Given the description of an element on the screen output the (x, y) to click on. 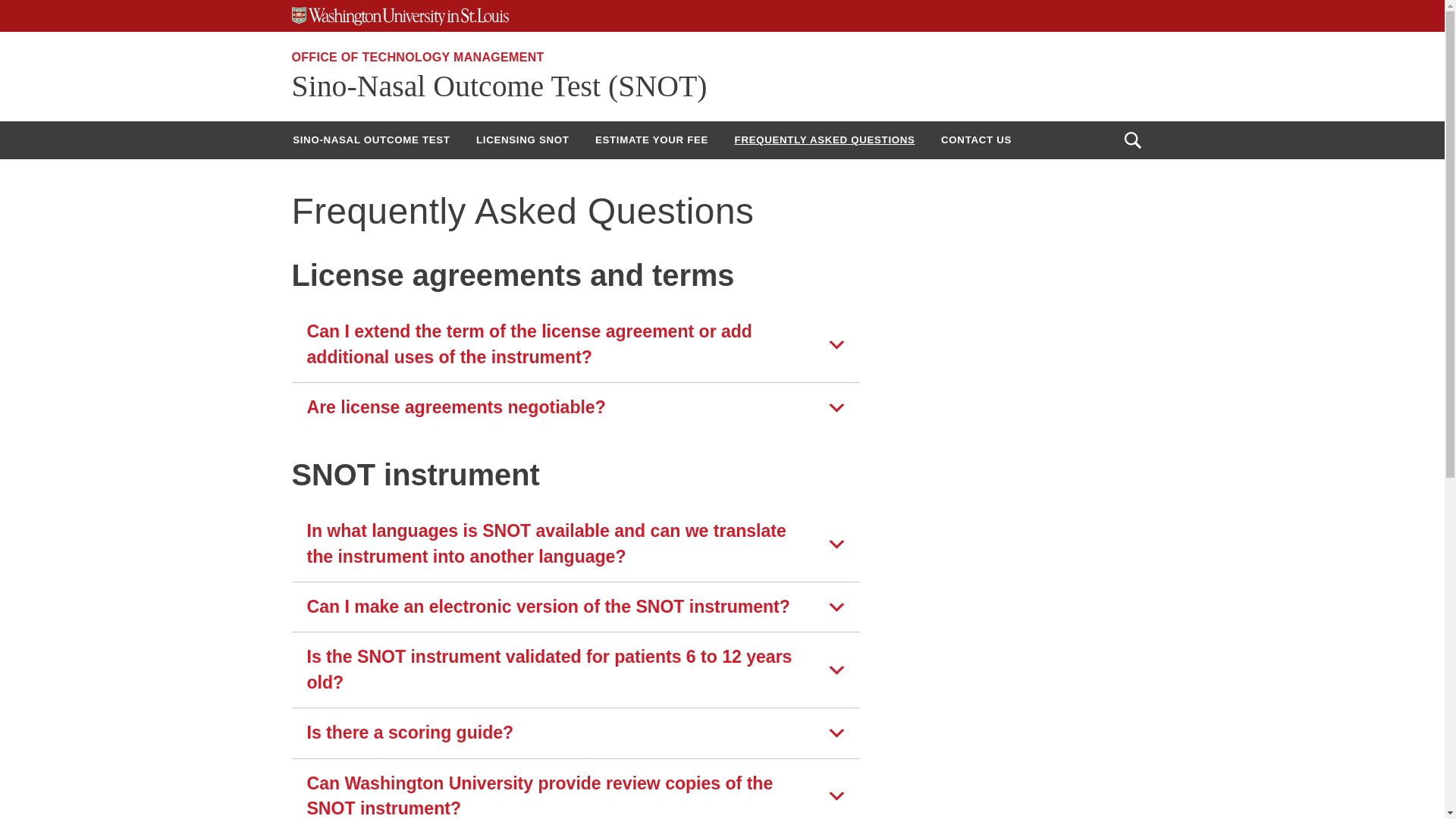
ESTIMATE YOUR FEE (651, 139)
CONTACT US (976, 139)
LICENSING SNOT (522, 139)
Open Search (1132, 140)
SINO-NASAL OUTCOME TEST (371, 139)
OFFICE OF TECHNOLOGY MANAGEMENT (417, 56)
FREQUENTLY ASKED QUESTIONS (824, 139)
